Given the description of an element on the screen output the (x, y) to click on. 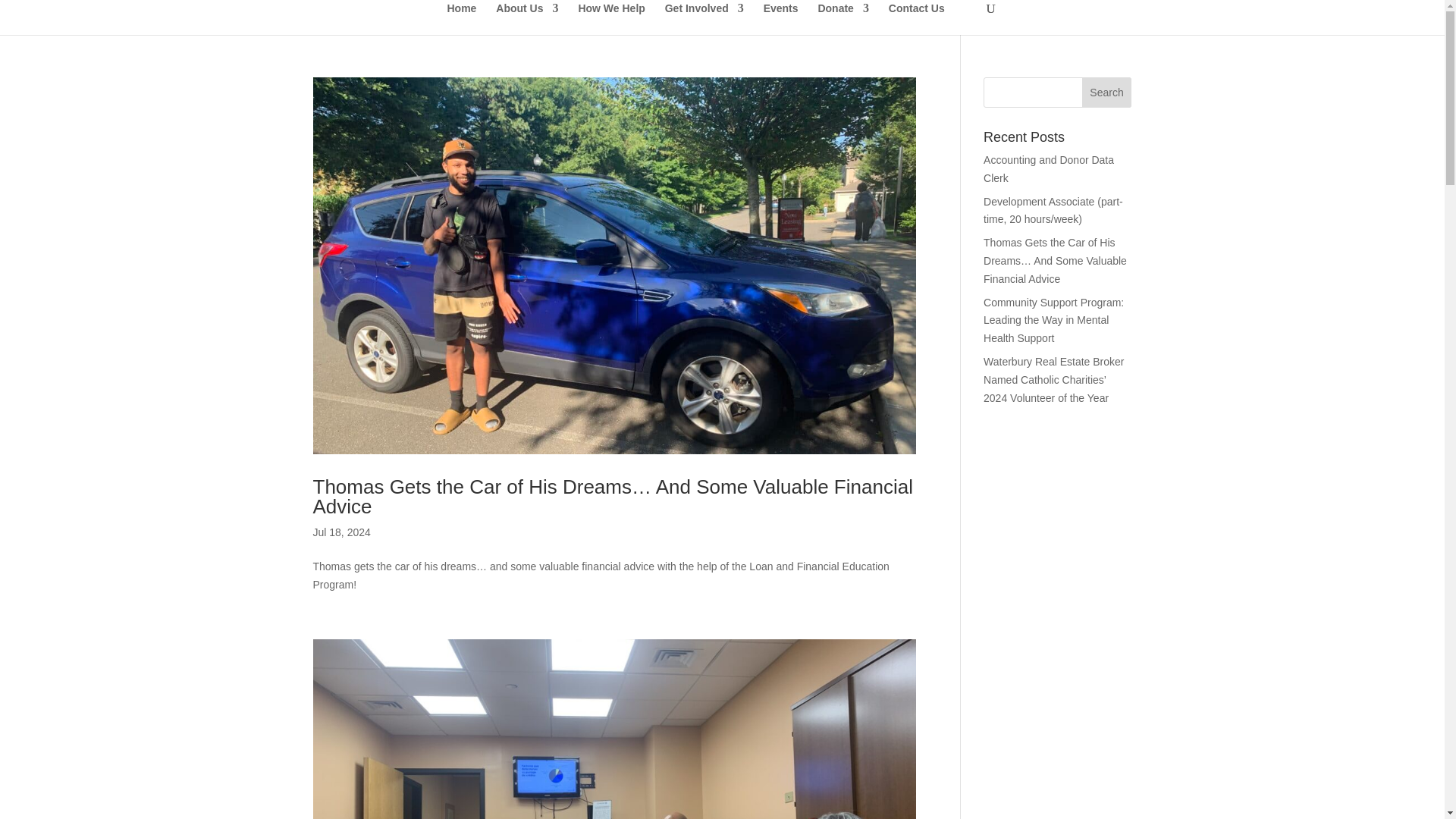
Contact Us (916, 19)
Donate (841, 19)
About Us (526, 19)
Home (461, 19)
Accounting and Donor Data Clerk (1048, 168)
Events (779, 19)
Get Involved (704, 19)
Search (1106, 91)
How We Help (611, 19)
Search (1106, 91)
